Given the description of an element on the screen output the (x, y) to click on. 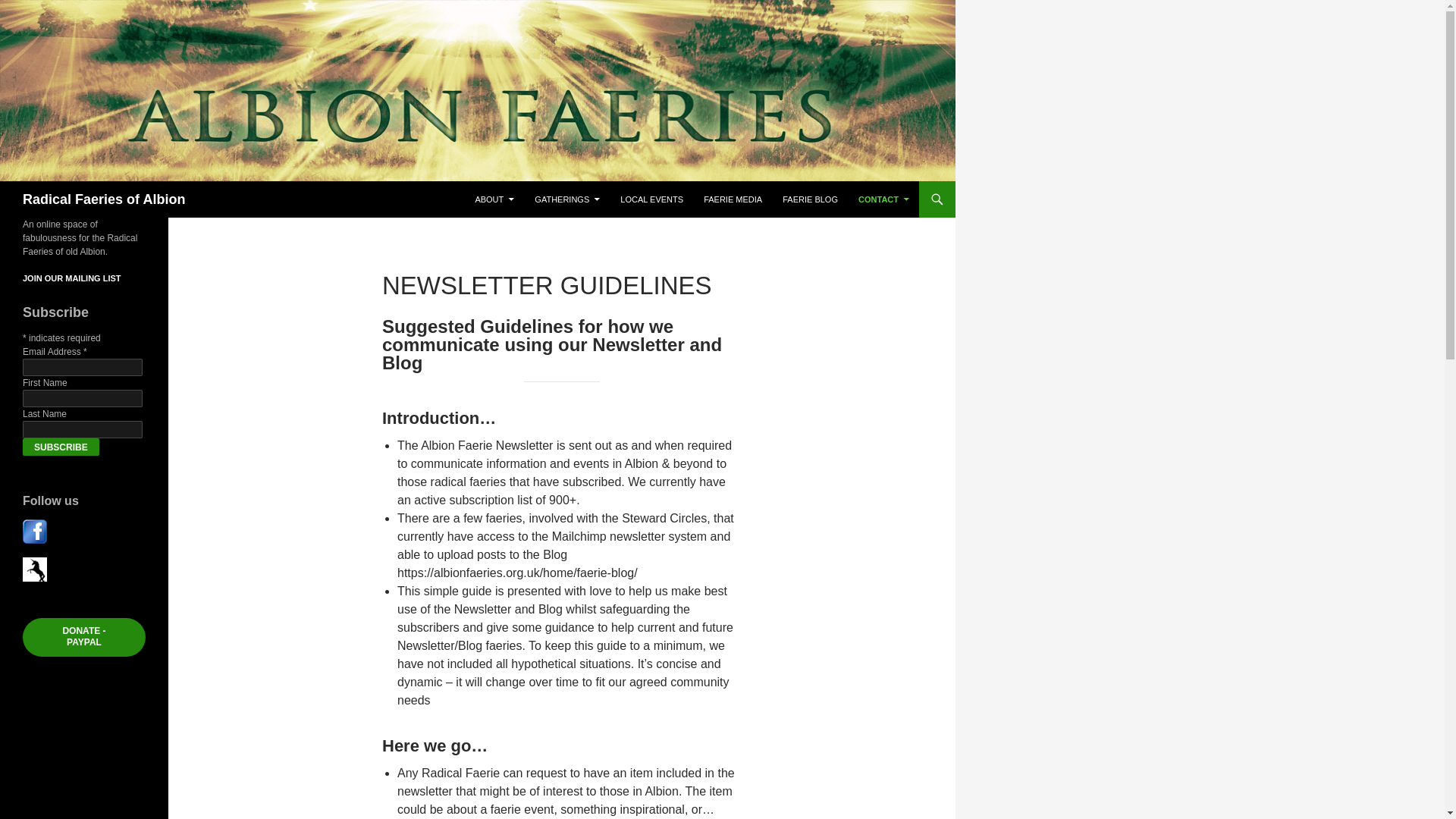
Subscribe (61, 446)
GATHERINGS (566, 198)
FAERIE BLOG (810, 198)
LOCAL EVENTS (652, 198)
DONATE - PAYPAL (84, 637)
ABOUT (493, 198)
Subscribe (61, 446)
FAERIE MEDIA (732, 198)
CONTACT (883, 198)
Radical Faeries of Albion (103, 198)
